Given the description of an element on the screen output the (x, y) to click on. 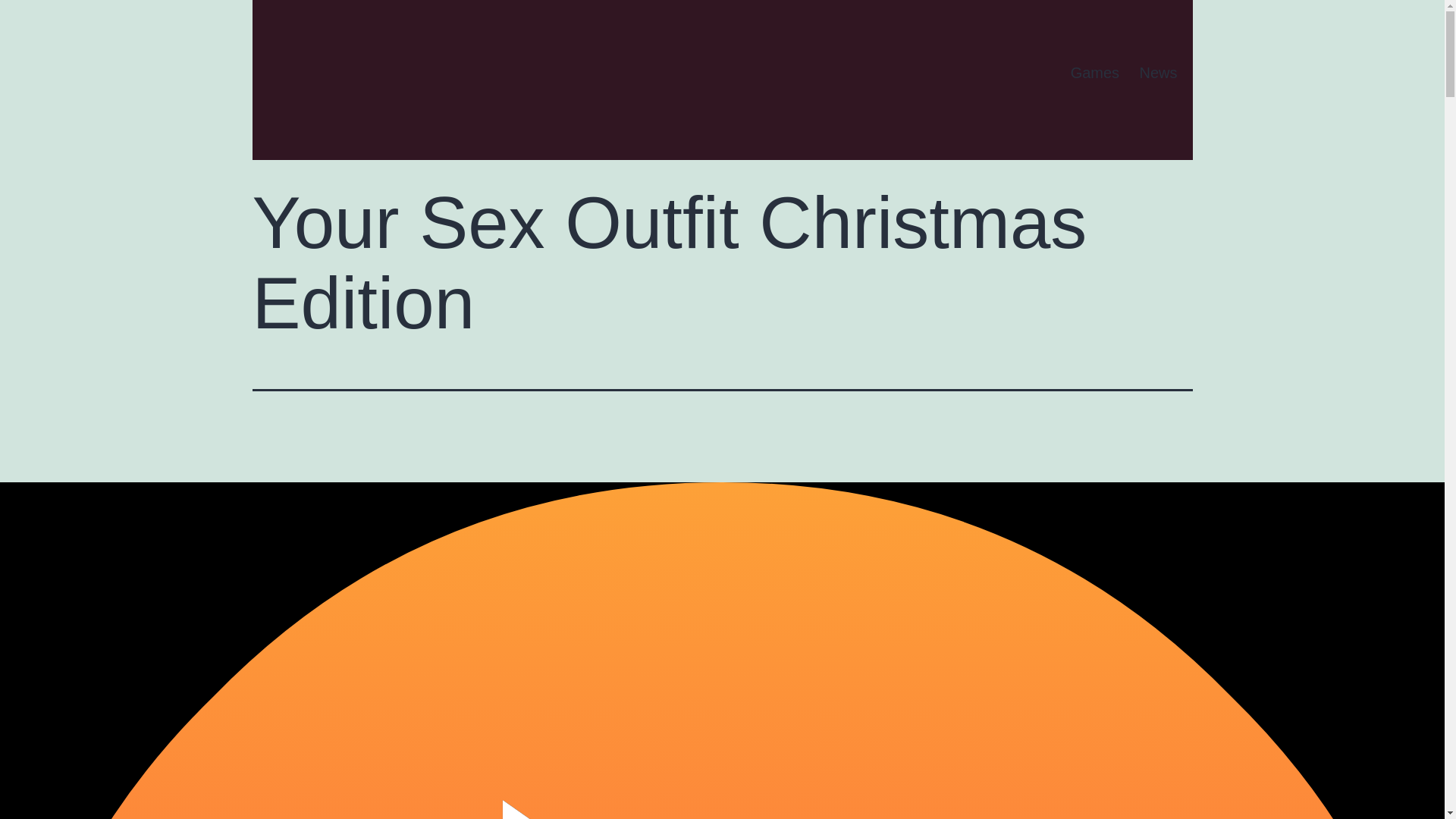
Adult Sex Games (337, 69)
News (1157, 72)
Games (1094, 72)
